Given the description of an element on the screen output the (x, y) to click on. 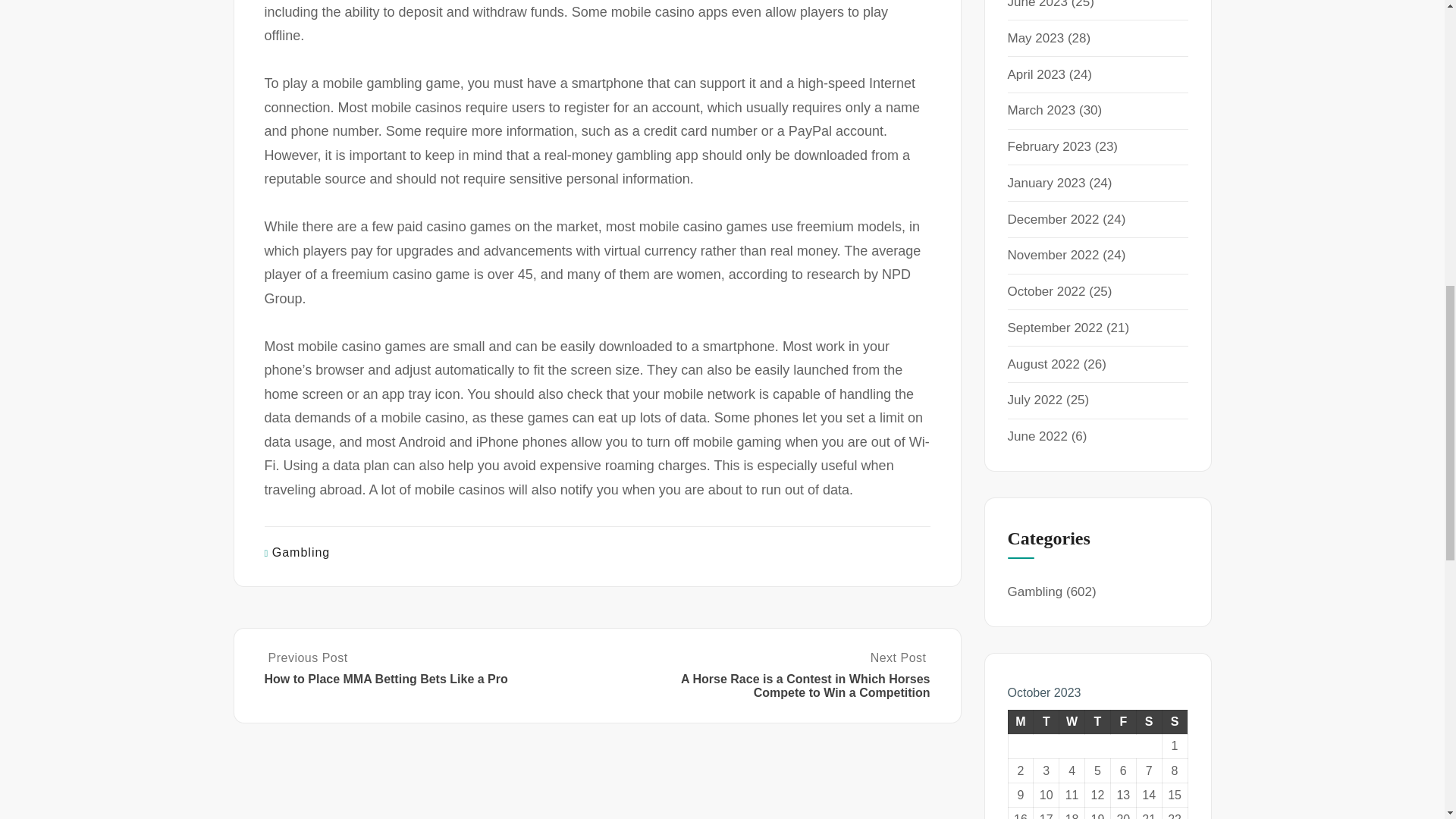
Saturday (1148, 721)
Monday (1020, 721)
September 2022 (1054, 327)
Sunday (1174, 721)
Thursday (1097, 721)
October 2022 (1045, 291)
November 2022 (1053, 255)
April 2023 (1036, 74)
January 2023 (1045, 183)
December 2022 (1053, 219)
Friday (1122, 721)
Gambling (301, 552)
Tuesday (1046, 721)
